Given the description of an element on the screen output the (x, y) to click on. 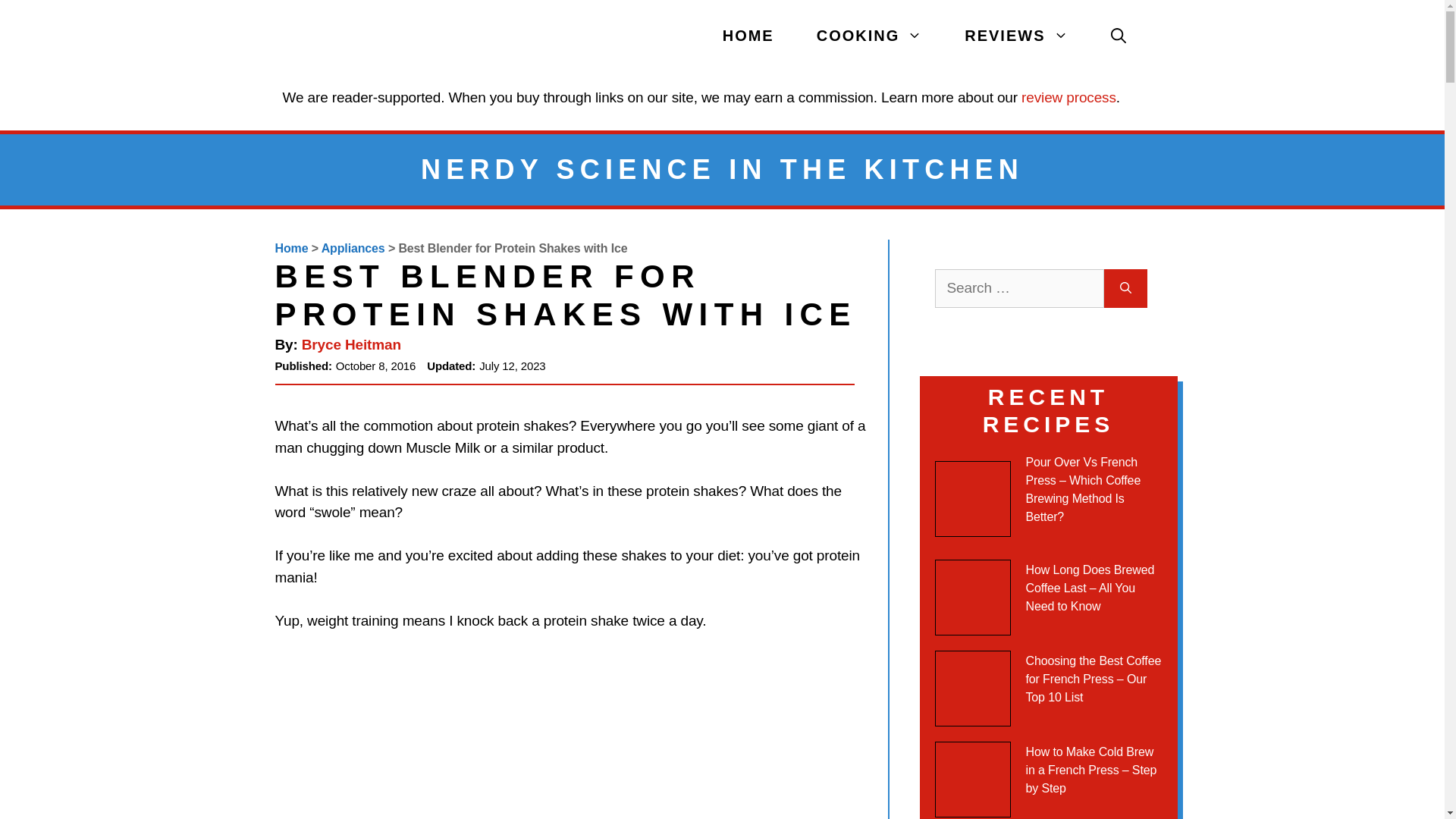
REVIEWS (1016, 36)
HOME (747, 36)
COOKING (868, 36)
